Given the description of an element on the screen output the (x, y) to click on. 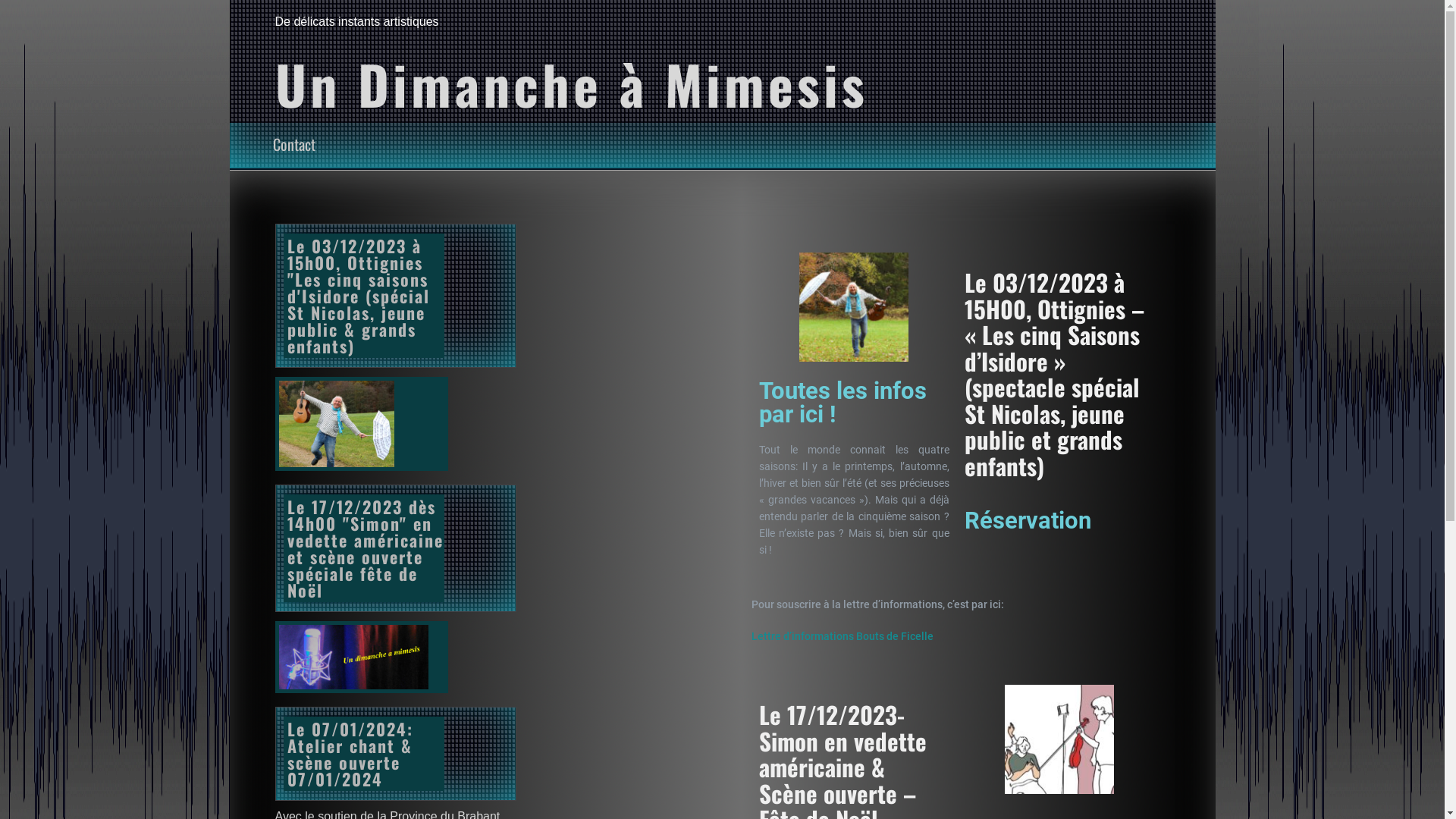
Contact Element type: text (293, 143)
Toutes les infos par ici ! Element type: text (842, 402)
